Given the description of an element on the screen output the (x, y) to click on. 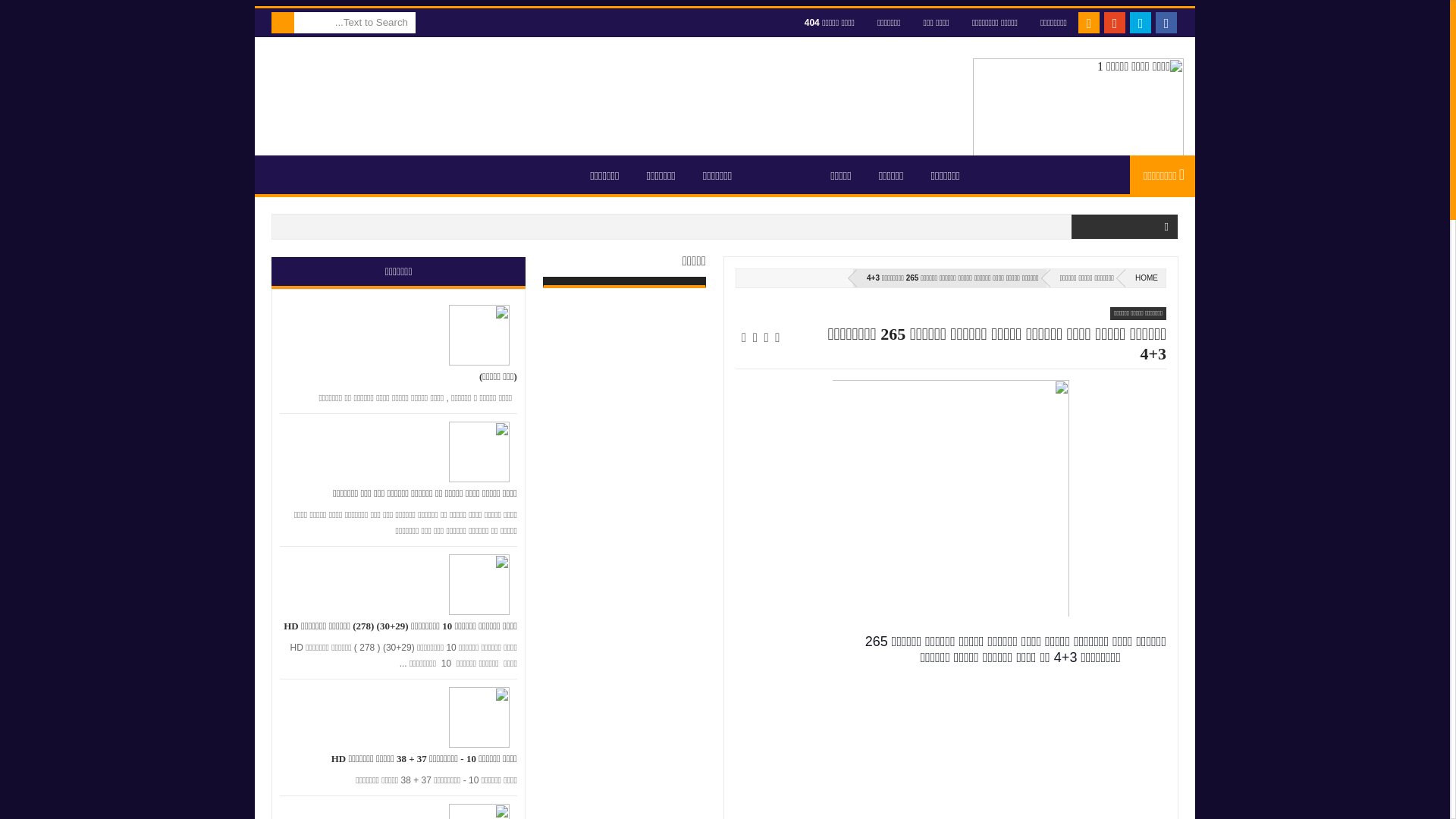
HOME Element type: text (1143, 278)
